Given the description of an element on the screen output the (x, y) to click on. 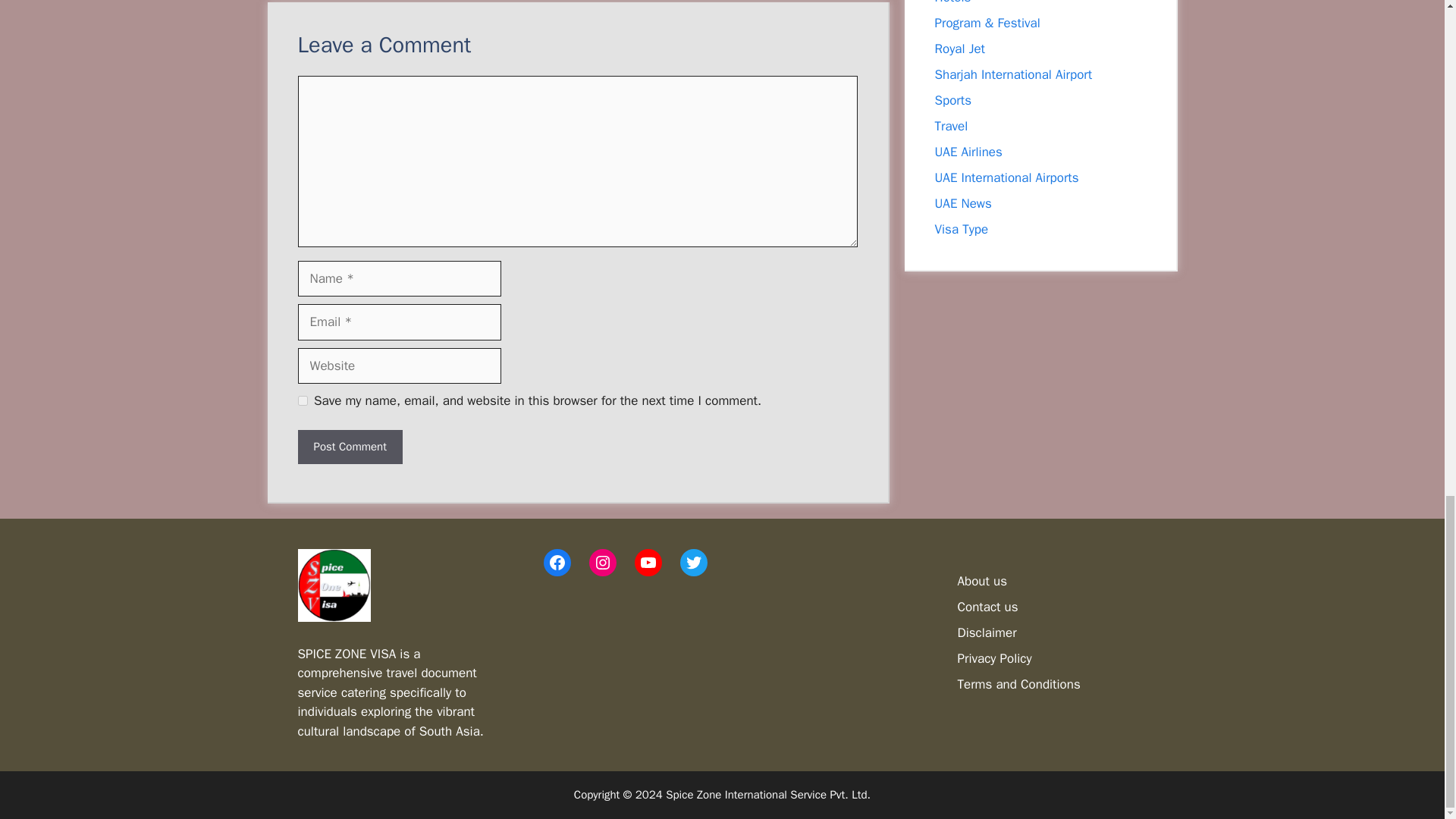
yes (302, 400)
Scroll back to top (1406, 265)
Post Comment (349, 446)
